Given the description of an element on the screen output the (x, y) to click on. 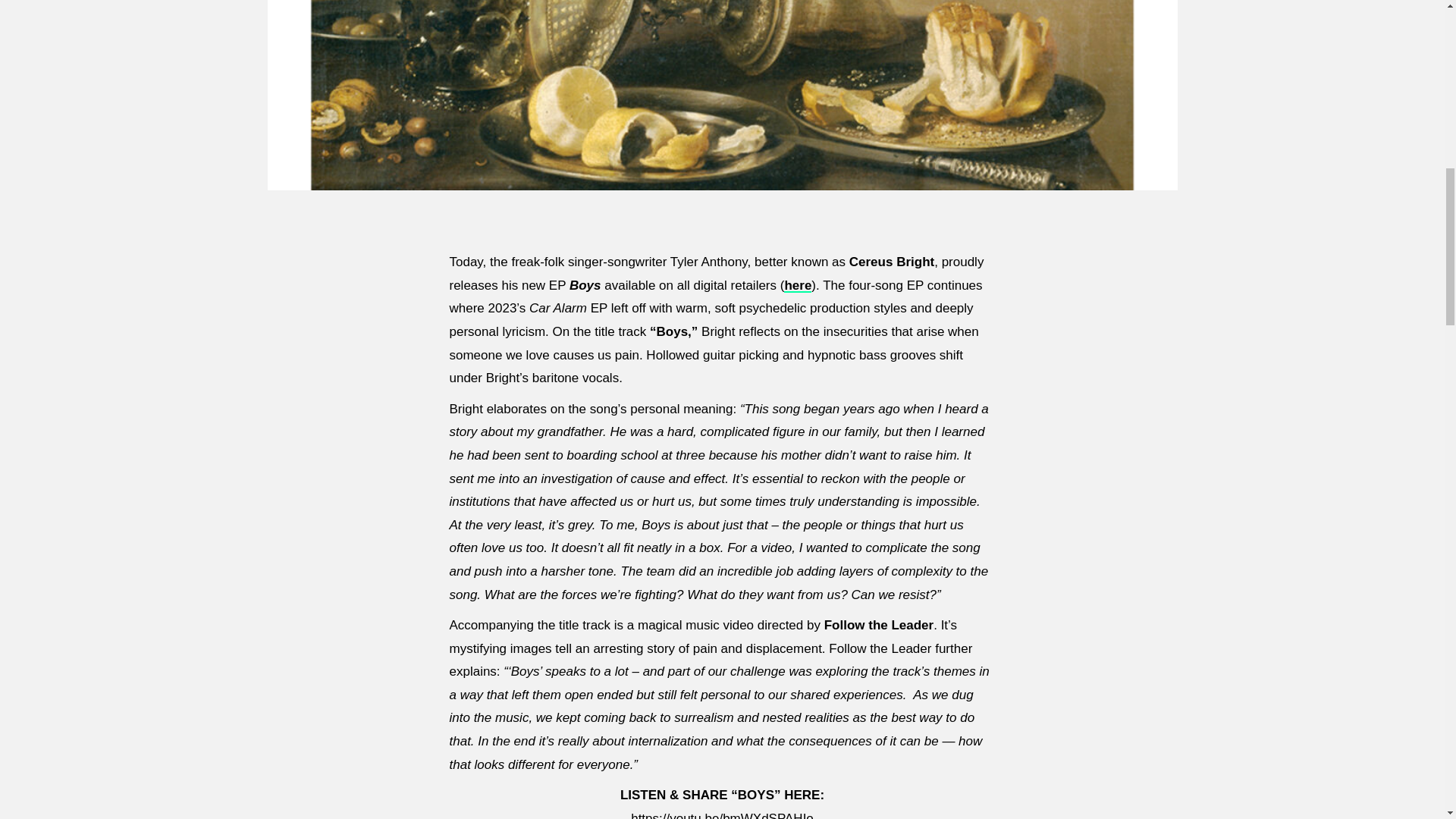
here (797, 285)
